Given the description of an element on the screen output the (x, y) to click on. 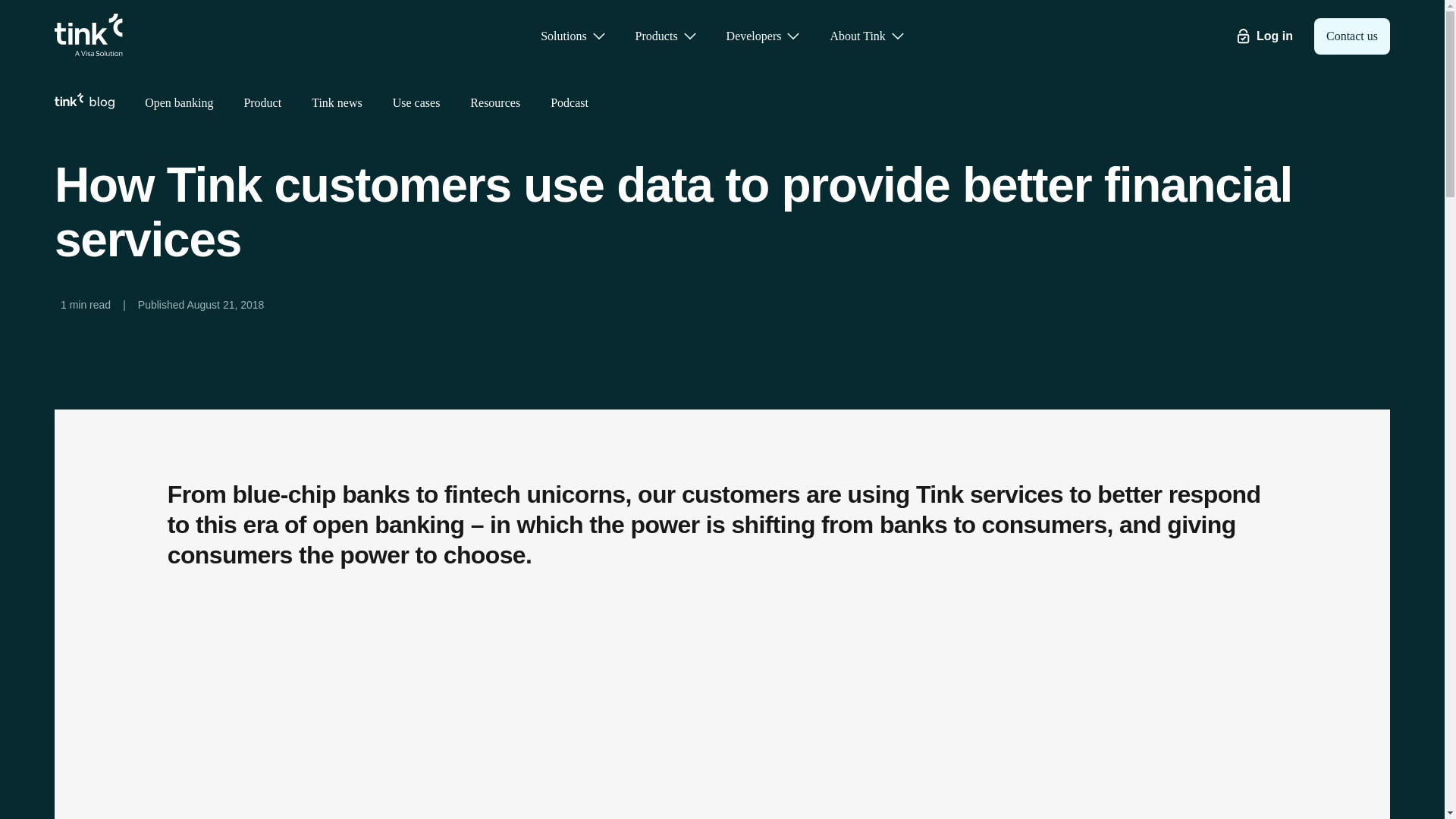
Product (262, 102)
Contact us (1352, 36)
Log in (1274, 36)
Developers (763, 36)
Open banking (178, 102)
Podcast (569, 102)
Products (665, 36)
Solutions (572, 36)
Use cases (417, 102)
About Tink (865, 36)
Resources (494, 102)
Tink news (336, 102)
